Given the description of an element on the screen output the (x, y) to click on. 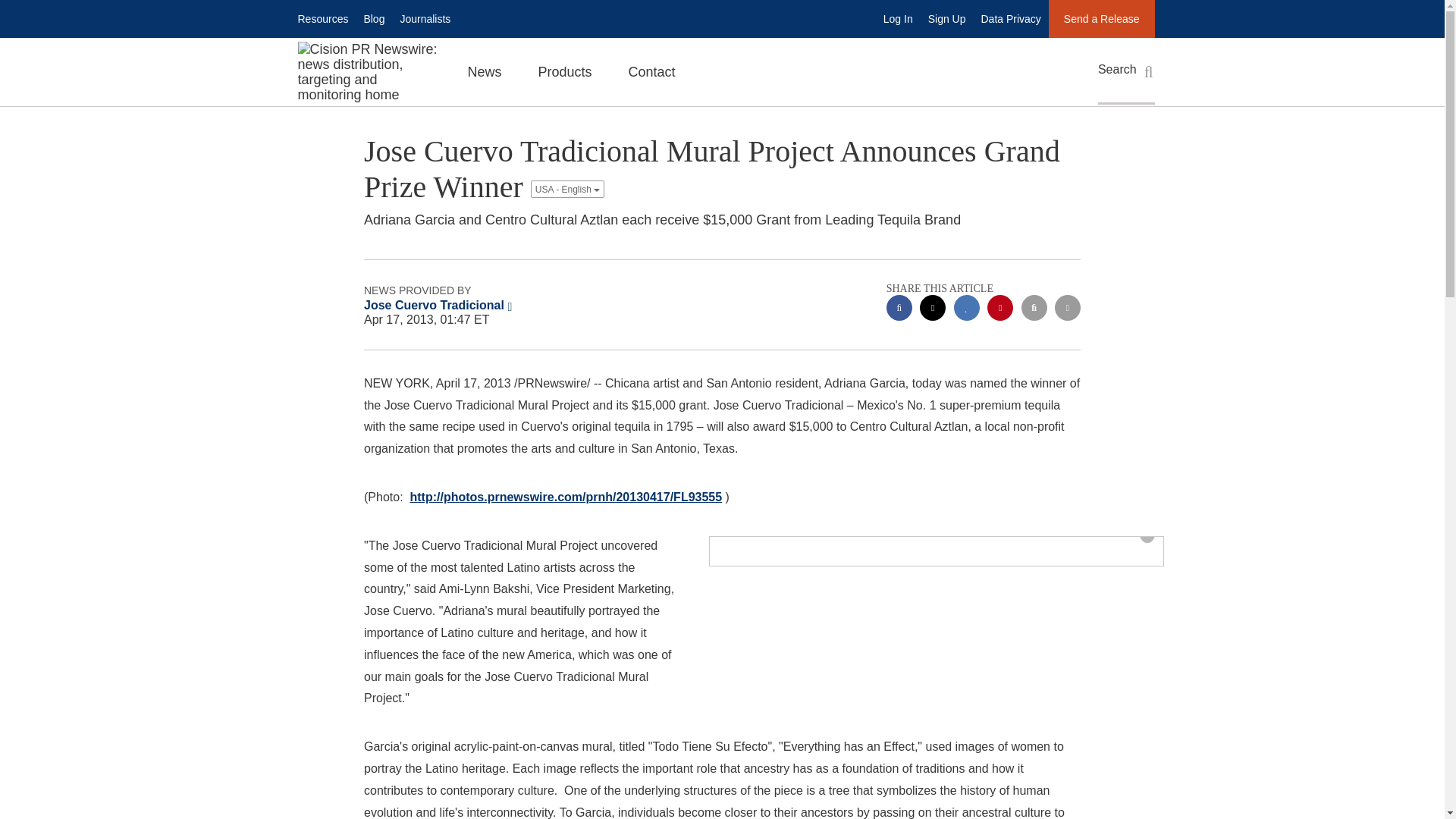
Sign Up (947, 18)
Blog (373, 18)
Resources (322, 18)
Data Privacy (1011, 18)
Contact (652, 71)
Log In (898, 18)
Products (564, 71)
News (483, 71)
Send a Release (1101, 18)
Journalists (424, 18)
